Given the description of an element on the screen output the (x, y) to click on. 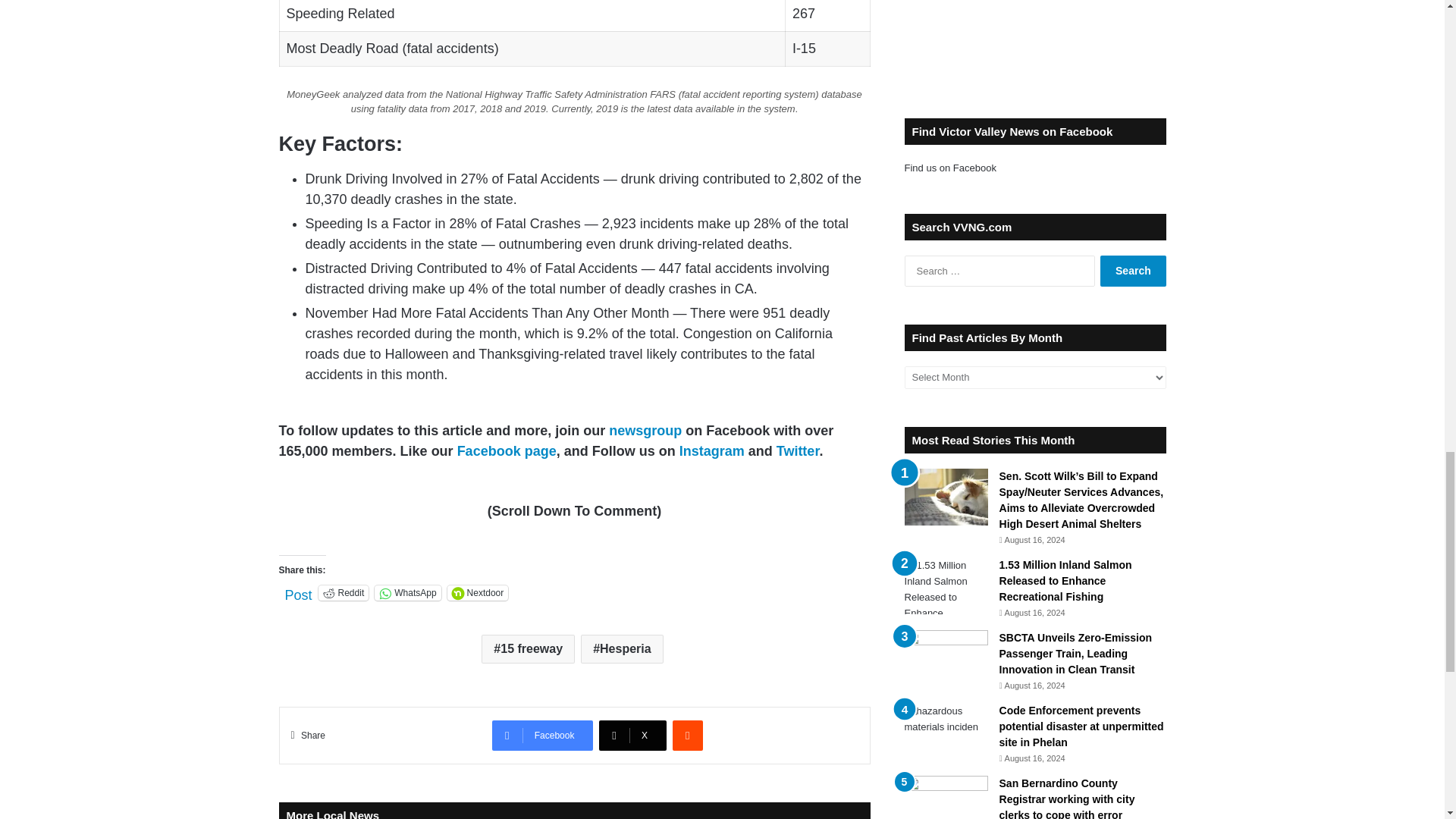
Click to share on Nextdoor (477, 592)
Instagram (711, 450)
Facebook page (506, 450)
Click to share on WhatsApp (407, 592)
newsgroup (644, 430)
Search (1133, 270)
Click to share on Reddit (343, 592)
Search (1133, 270)
